Given the description of an element on the screen output the (x, y) to click on. 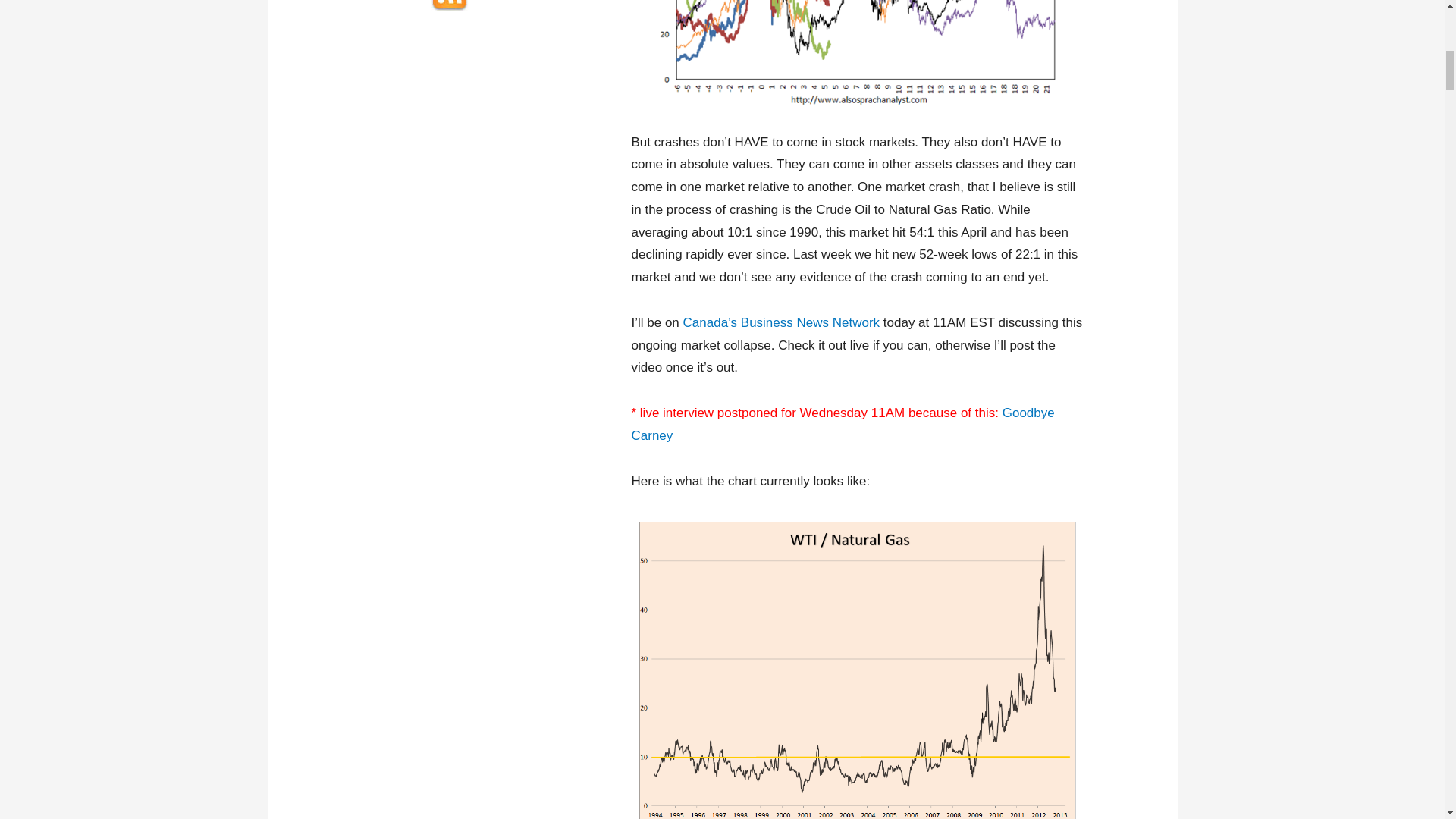
11-26-12 Boom and bust (857, 54)
